Given the description of an element on the screen output the (x, y) to click on. 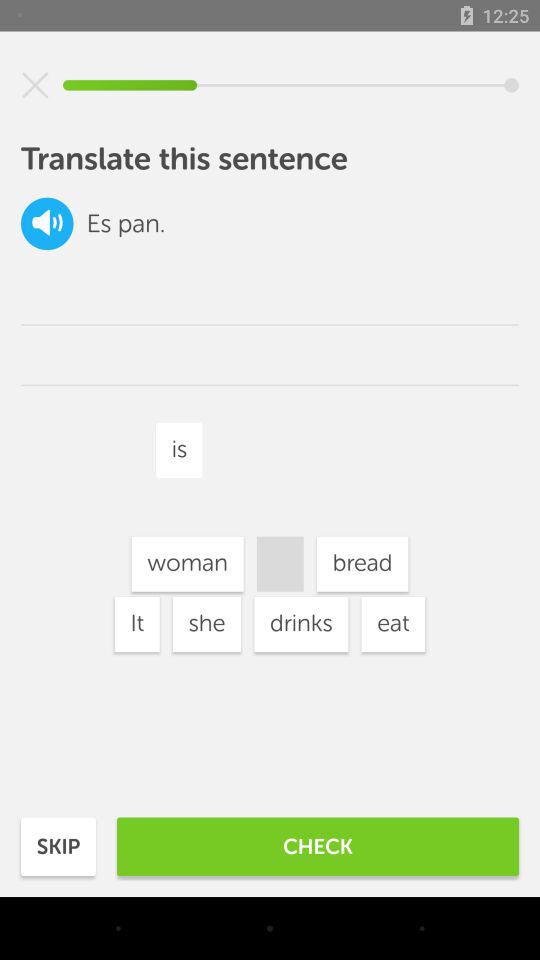
select icon next to it icon (206, 624)
